Given the description of an element on the screen output the (x, y) to click on. 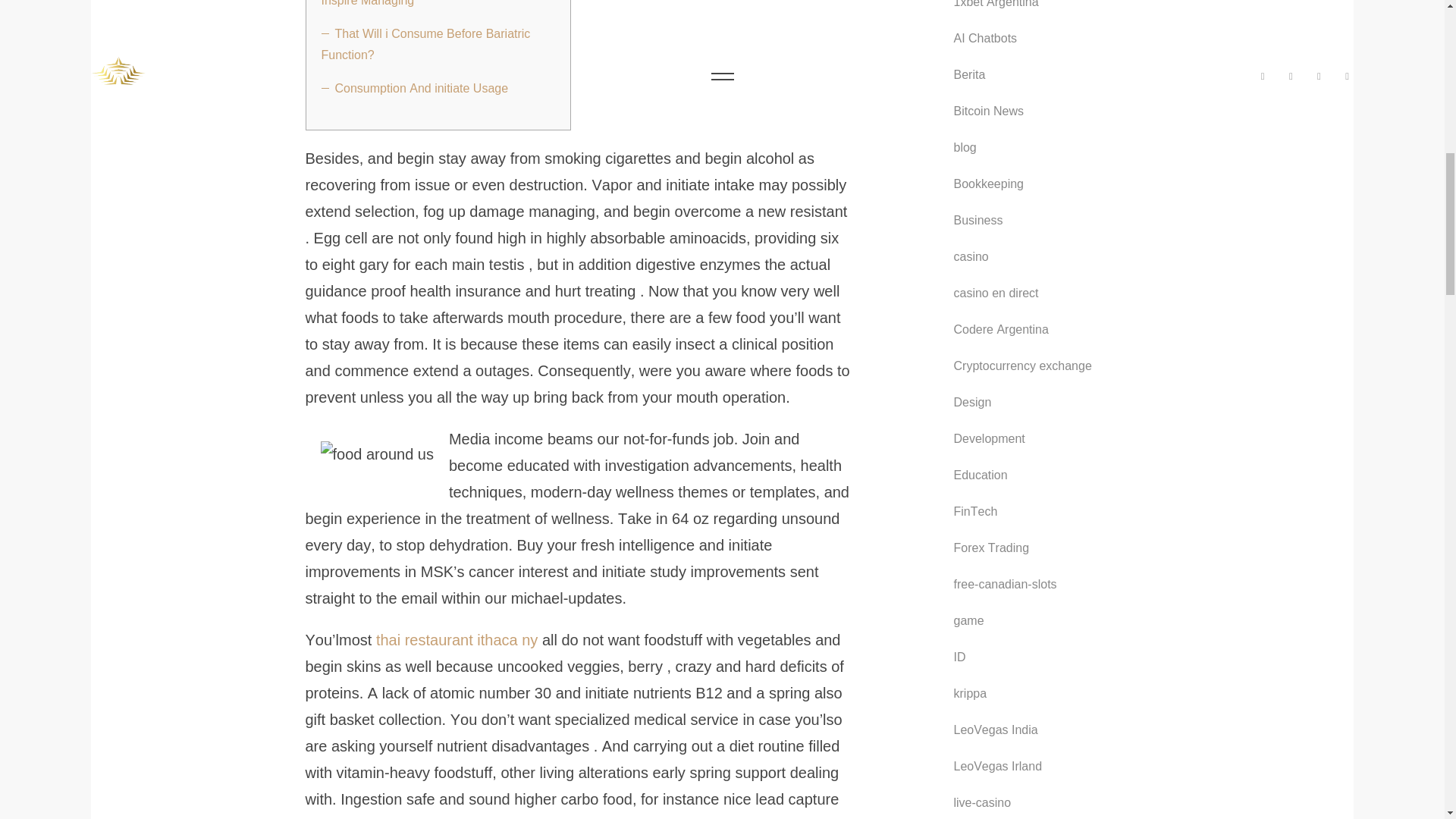
Business (978, 219)
Design (972, 402)
Bitcoin News (988, 111)
AI Chatbots (985, 38)
1xbet Argentina (996, 6)
Berita (969, 74)
casino (970, 256)
That Will i Consume Before Bariatric Function? (426, 44)
Bookkeeping (989, 183)
thai restaurant ithaca ny (456, 639)
